Given the description of an element on the screen output the (x, y) to click on. 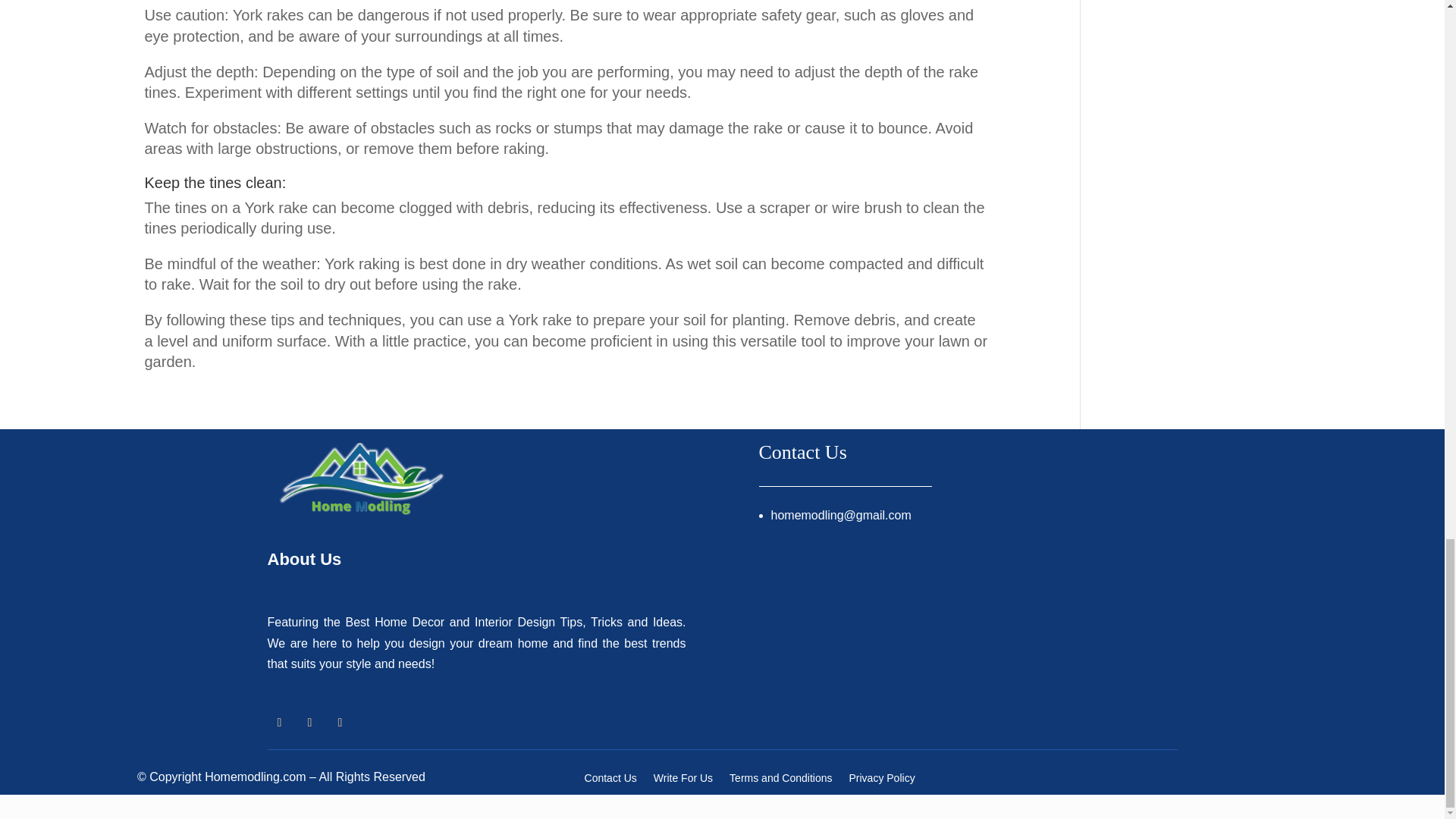
Follow on Instagram (339, 722)
Write For Us (683, 781)
Follow on LinkedIn (309, 722)
Contact Us (611, 781)
Follow on Facebook (278, 722)
Terms and Conditions (780, 781)
